Given the description of an element on the screen output the (x, y) to click on. 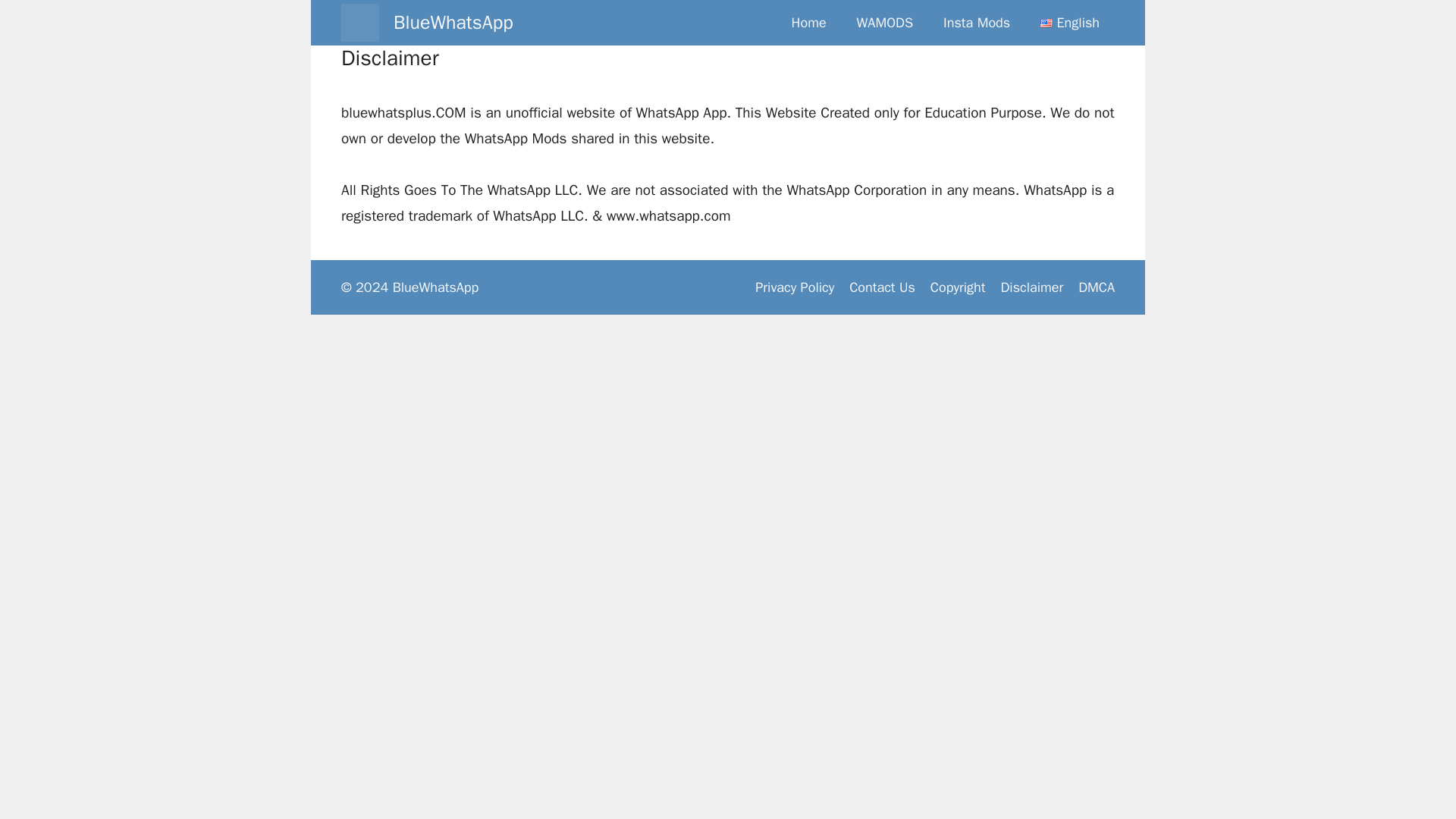
Contact Us (881, 287)
WAMODS (884, 22)
Privacy Policy (794, 287)
Copyright (957, 287)
English (1070, 22)
Home (808, 22)
DMCA (1096, 287)
Disclaimer (1031, 287)
BlueWhatsApp (453, 22)
Insta Mods (976, 22)
